Given the description of an element on the screen output the (x, y) to click on. 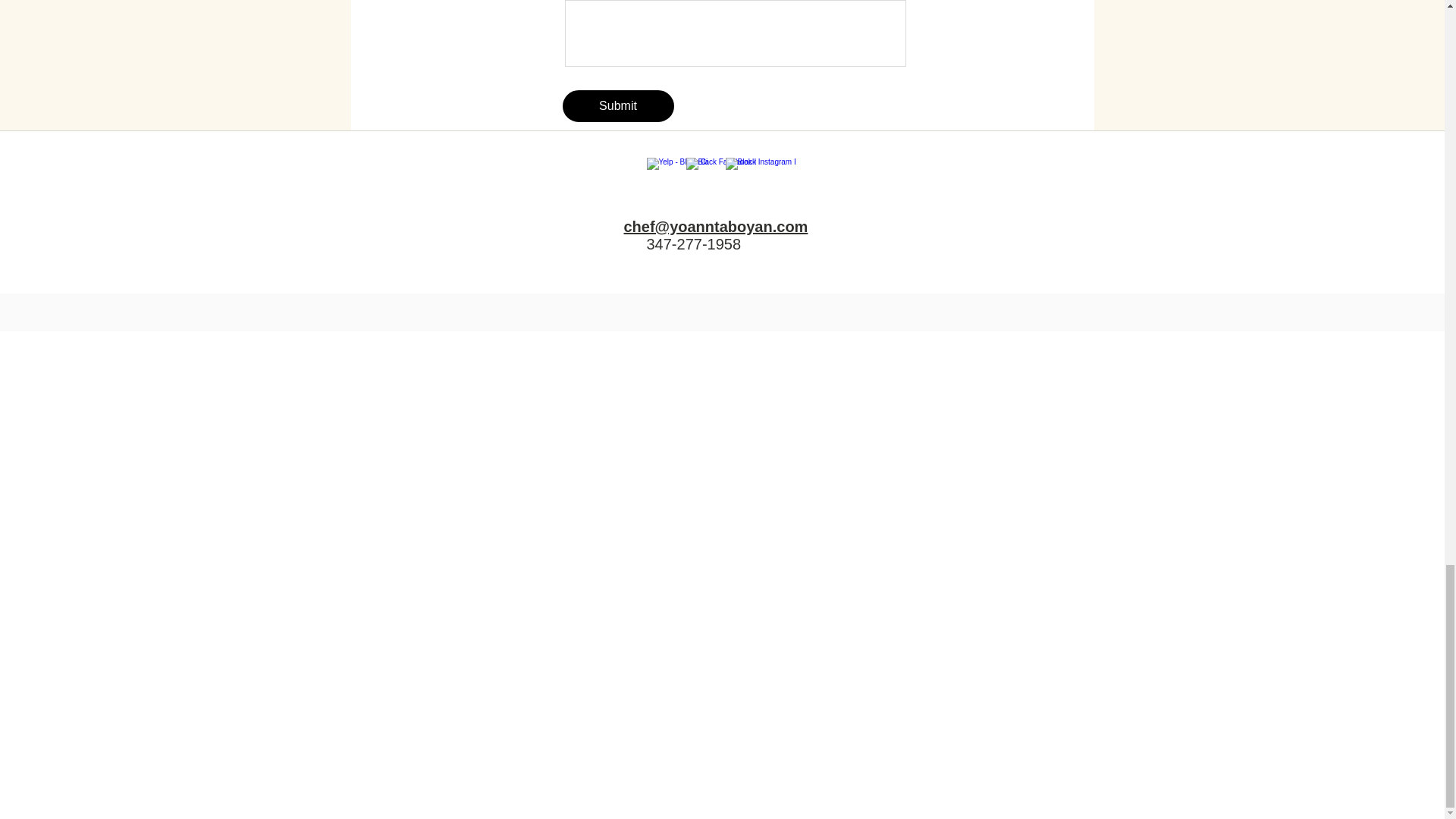
Submit (618, 106)
